Given the description of an element on the screen output the (x, y) to click on. 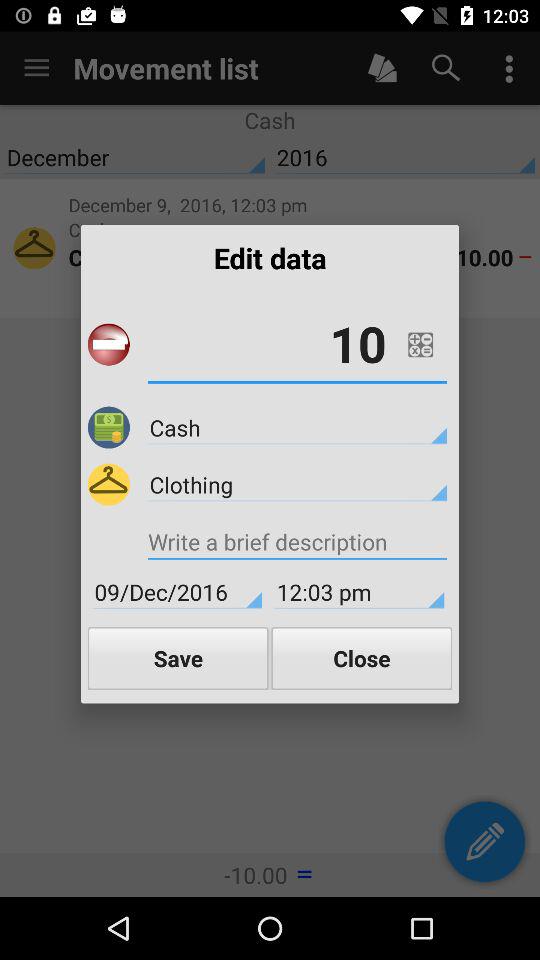
select icon next to close item (177, 658)
